Given the description of an element on the screen output the (x, y) to click on. 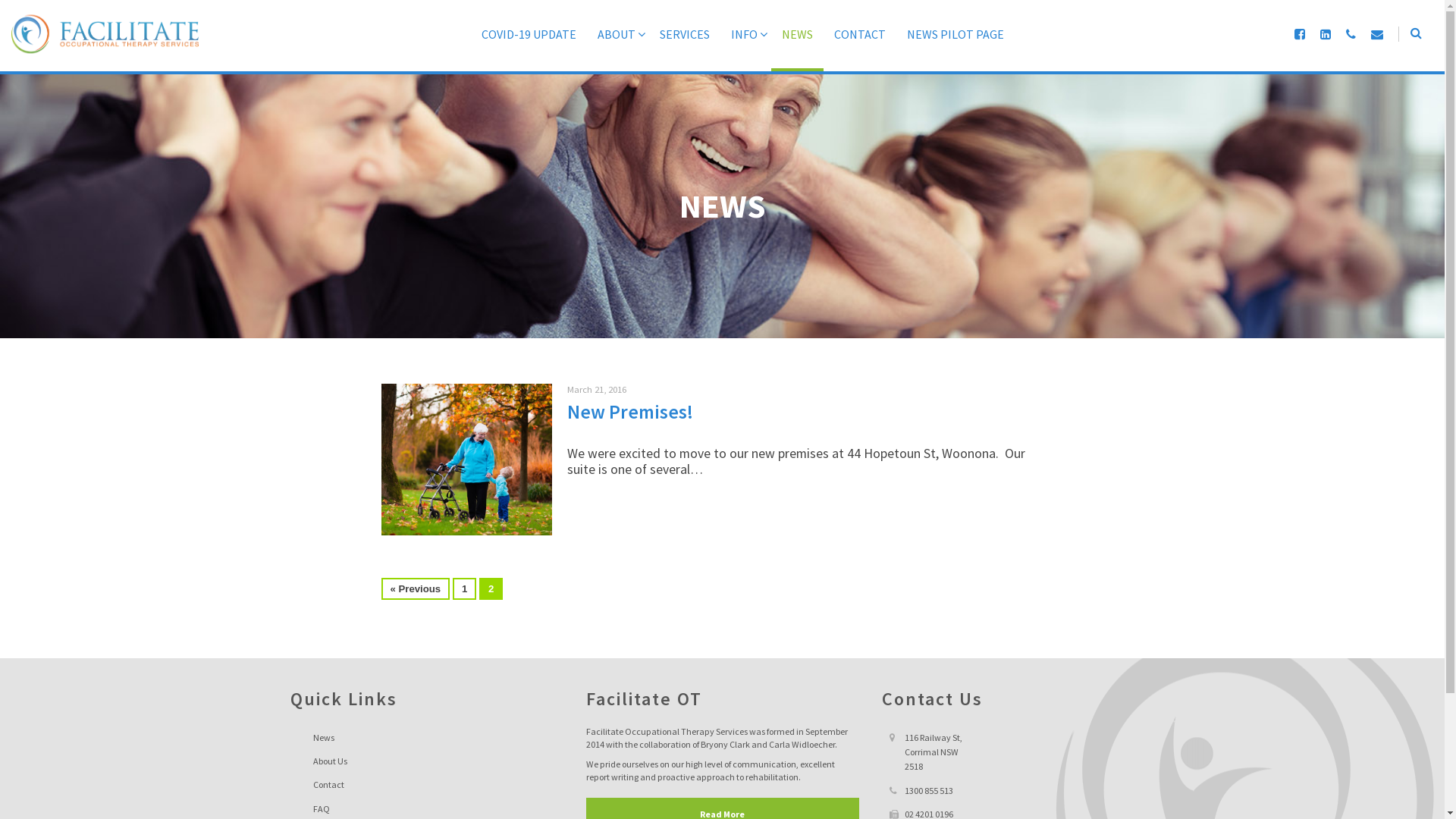
COVID-19 UPDATE Element type: text (528, 47)
CONTACT Element type: text (859, 47)
Facilitate OT Element type: hover (104, 33)
ABOUT Element type: text (617, 47)
Contact Element type: text (425, 784)
INFO Element type: text (745, 47)
About Us Element type: text (425, 760)
News Element type: text (425, 737)
NEWS Element type: text (797, 47)
NEWS PILOT PAGE Element type: text (955, 47)
SERVICES Element type: text (684, 47)
1 Element type: text (464, 588)
